Given the description of an element on the screen output the (x, y) to click on. 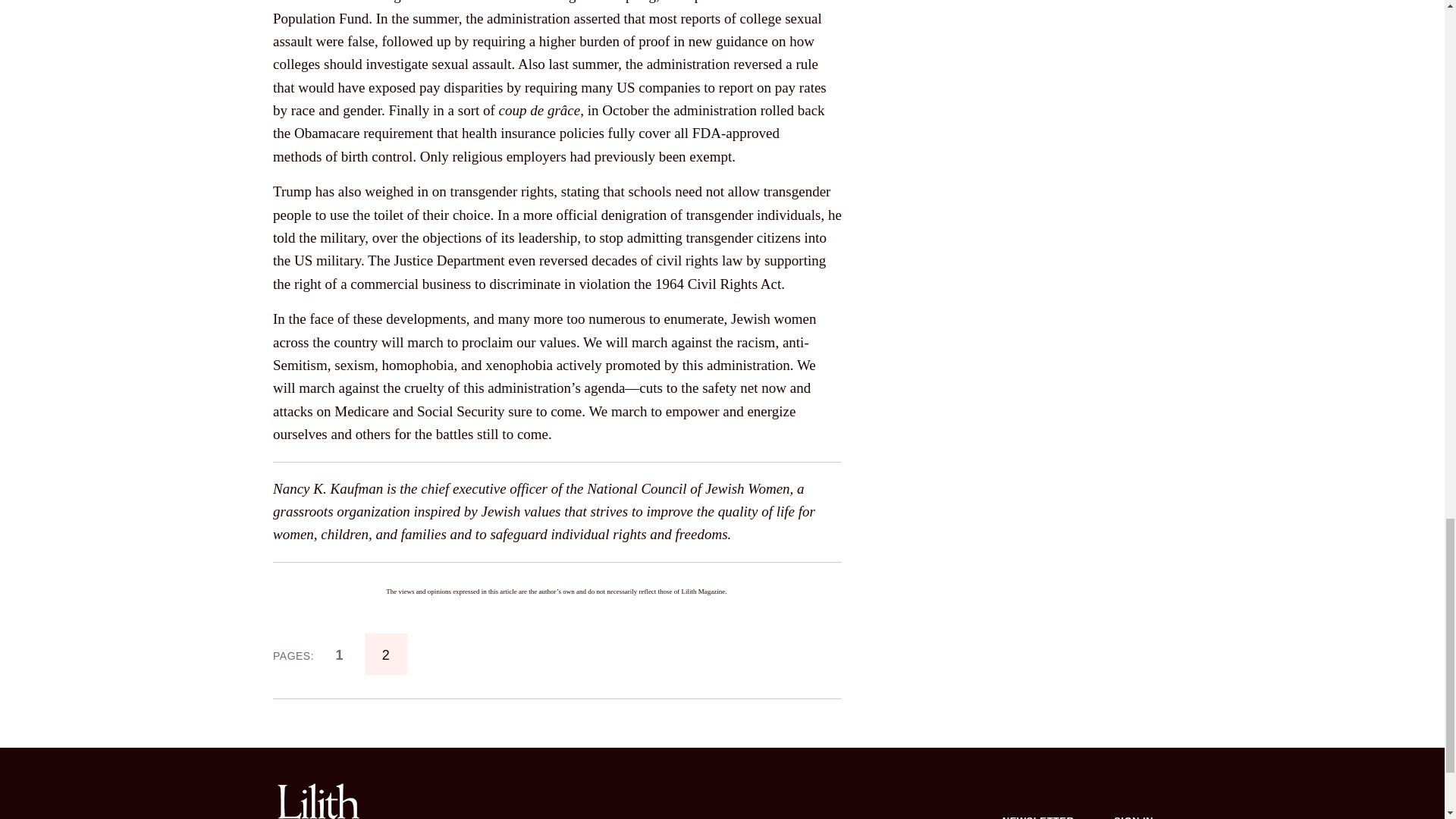
SIGN IN (1134, 805)
1 (338, 653)
NEWSLETTER (1038, 805)
